Given the description of an element on the screen output the (x, y) to click on. 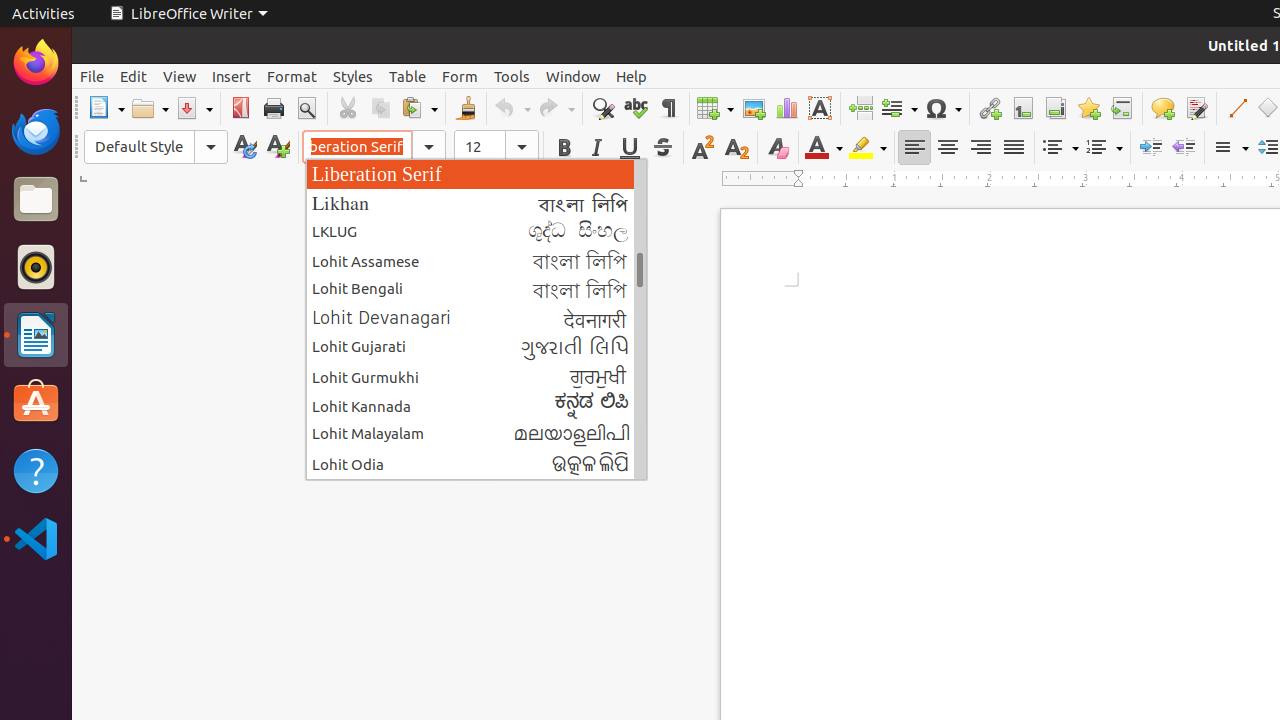
Cut Element type: push-button (347, 108)
Copy Element type: push-button (380, 108)
File Element type: menu (92, 76)
Justified Element type: toggle-button (1013, 147)
Form Element type: menu (460, 76)
